Given the description of an element on the screen output the (x, y) to click on. 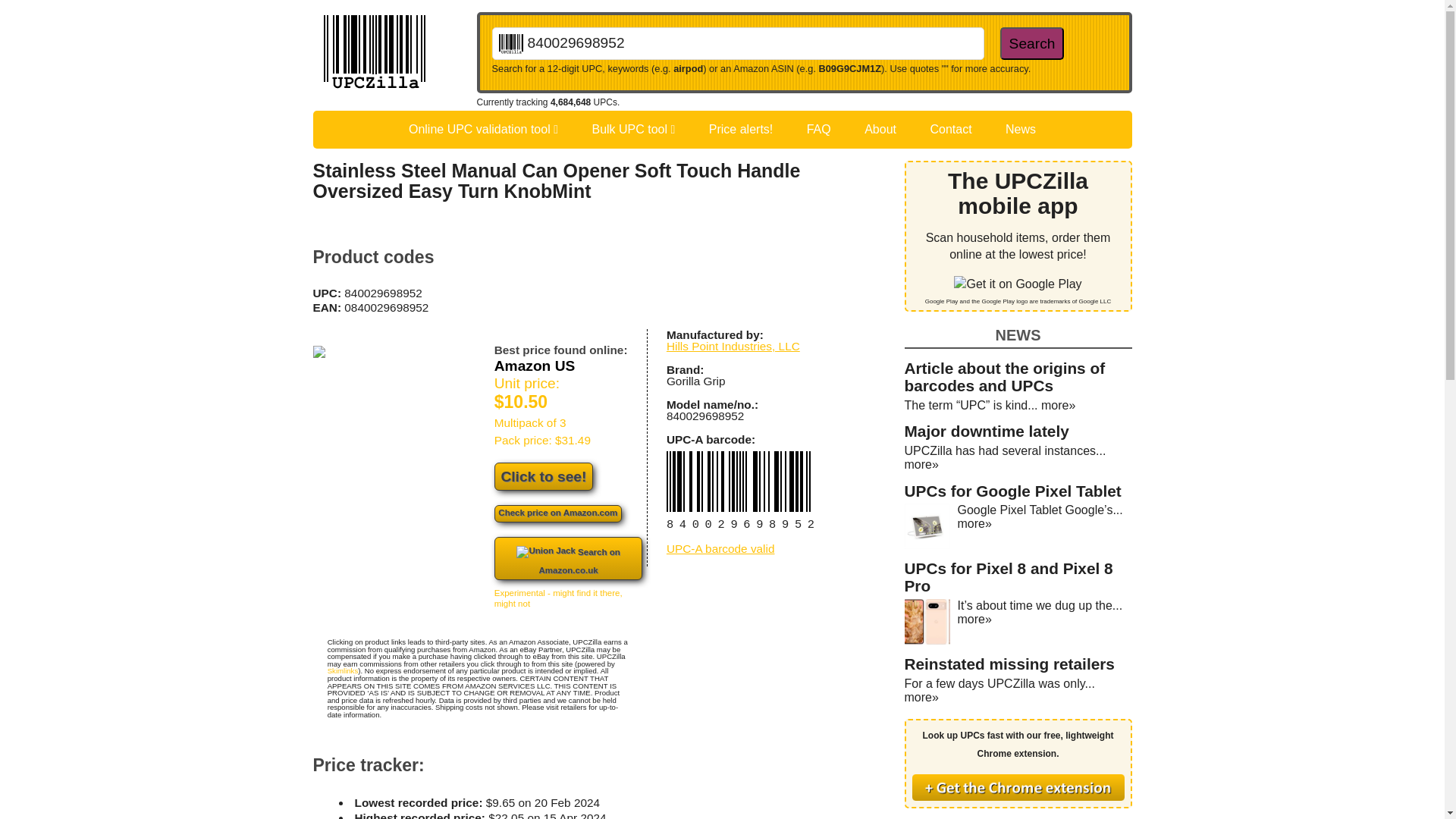
Major downtime lately (986, 430)
Article about the origins of barcodes and UPCs (1004, 376)
Skimlinks (342, 670)
About (879, 129)
840029698952 (738, 42)
News (1020, 129)
Hills Point Industries, LLC (732, 345)
UPCs for Google Pixel Tablet (1012, 490)
FAQ (818, 129)
UPCZilla (394, 53)
UPCZilla logo (374, 53)
Contact (950, 129)
Reinstated missing retailers (1008, 663)
Article about the origins of barcodes and UPCs (1004, 376)
